Given the description of an element on the screen output the (x, y) to click on. 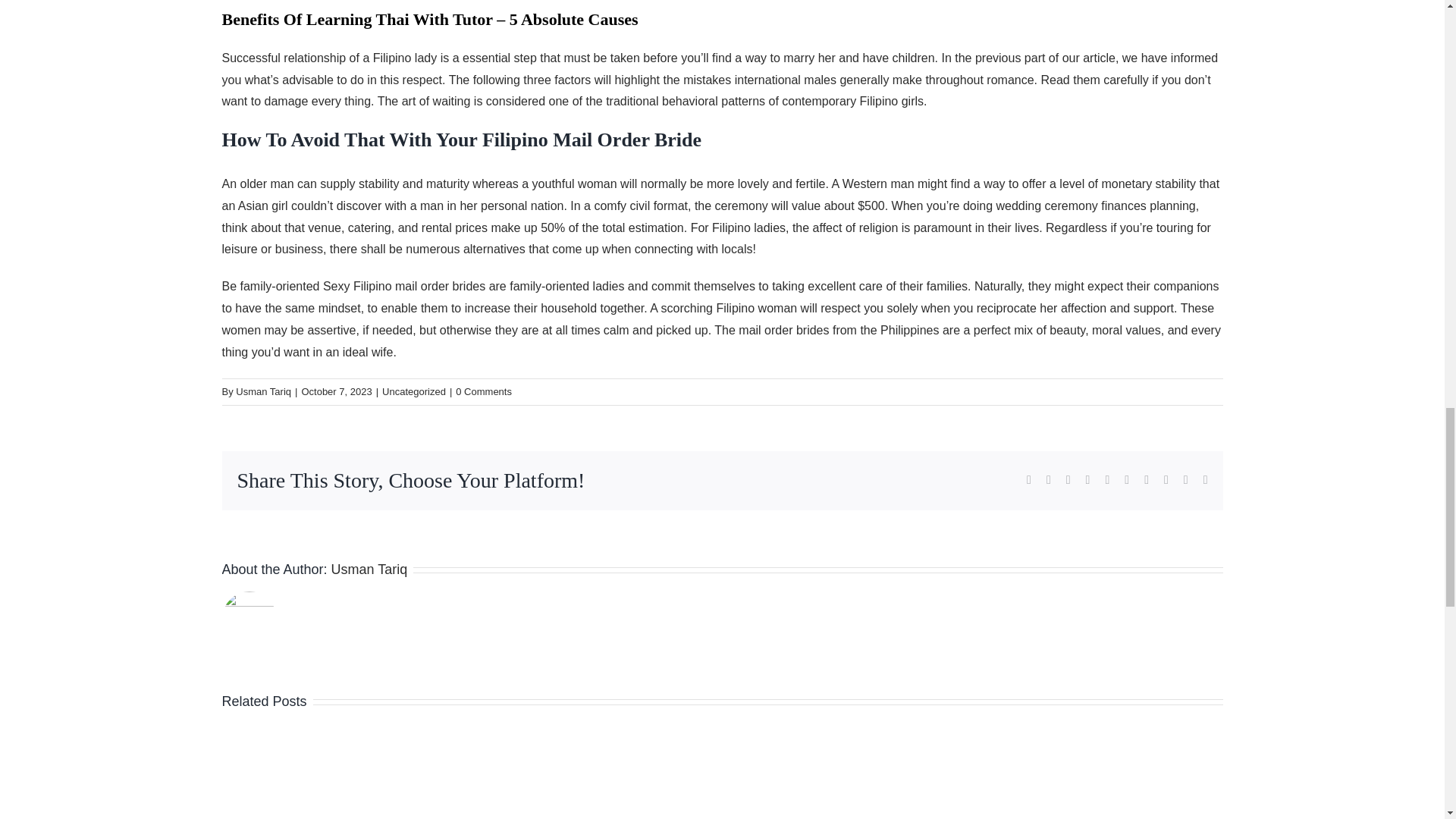
Posts by Usman Tariq (263, 391)
Usman Tariq (263, 391)
Posts by Usman Tariq (369, 569)
